Given the description of an element on the screen output the (x, y) to click on. 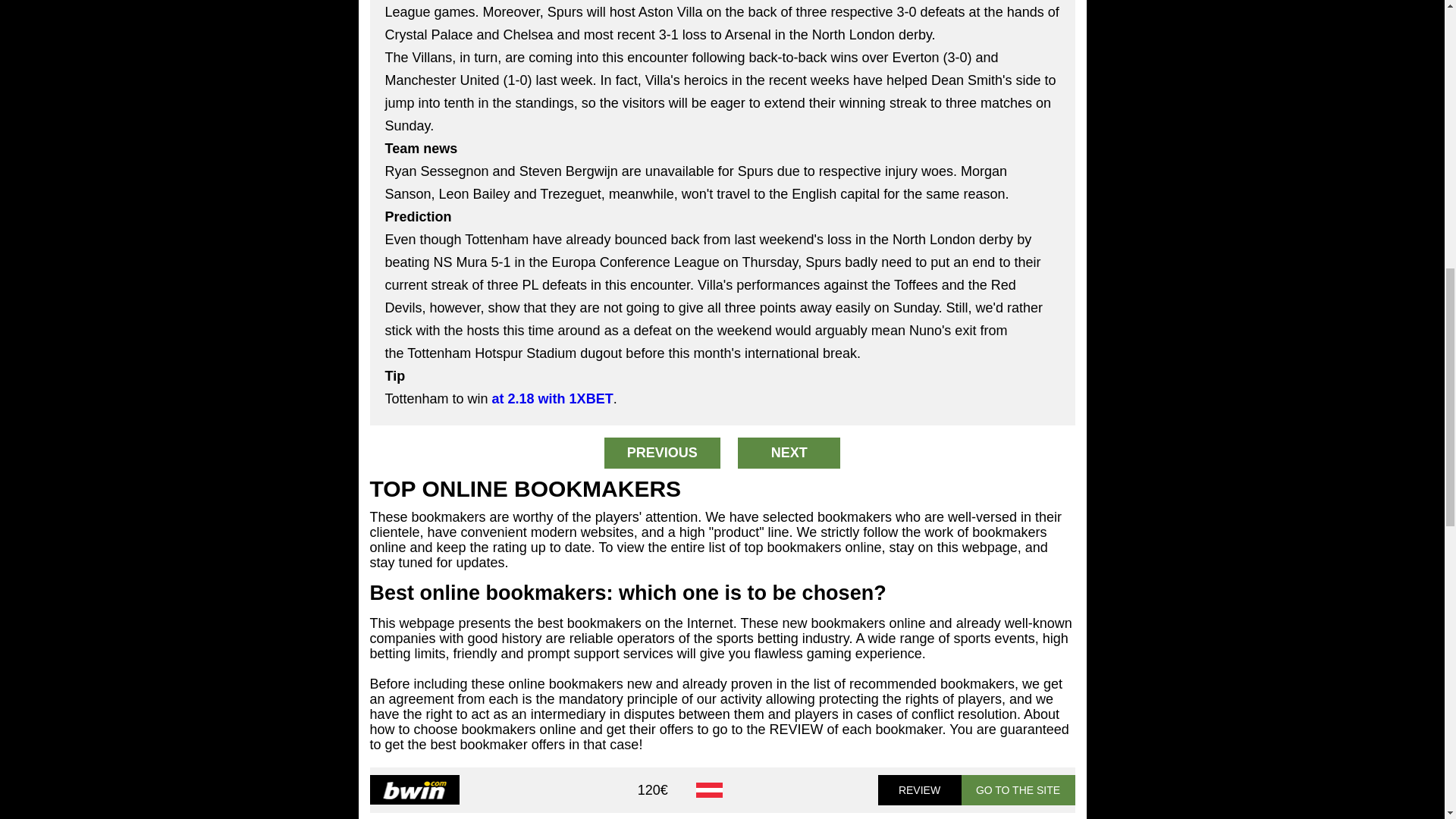
REVIEW (918, 789)
bwin (414, 789)
GO TO THE SITE (1017, 789)
at 2.18 with 1XBET (552, 398)
NEXT (789, 452)
PREVIOUS (662, 452)
